Given the description of an element on the screen output the (x, y) to click on. 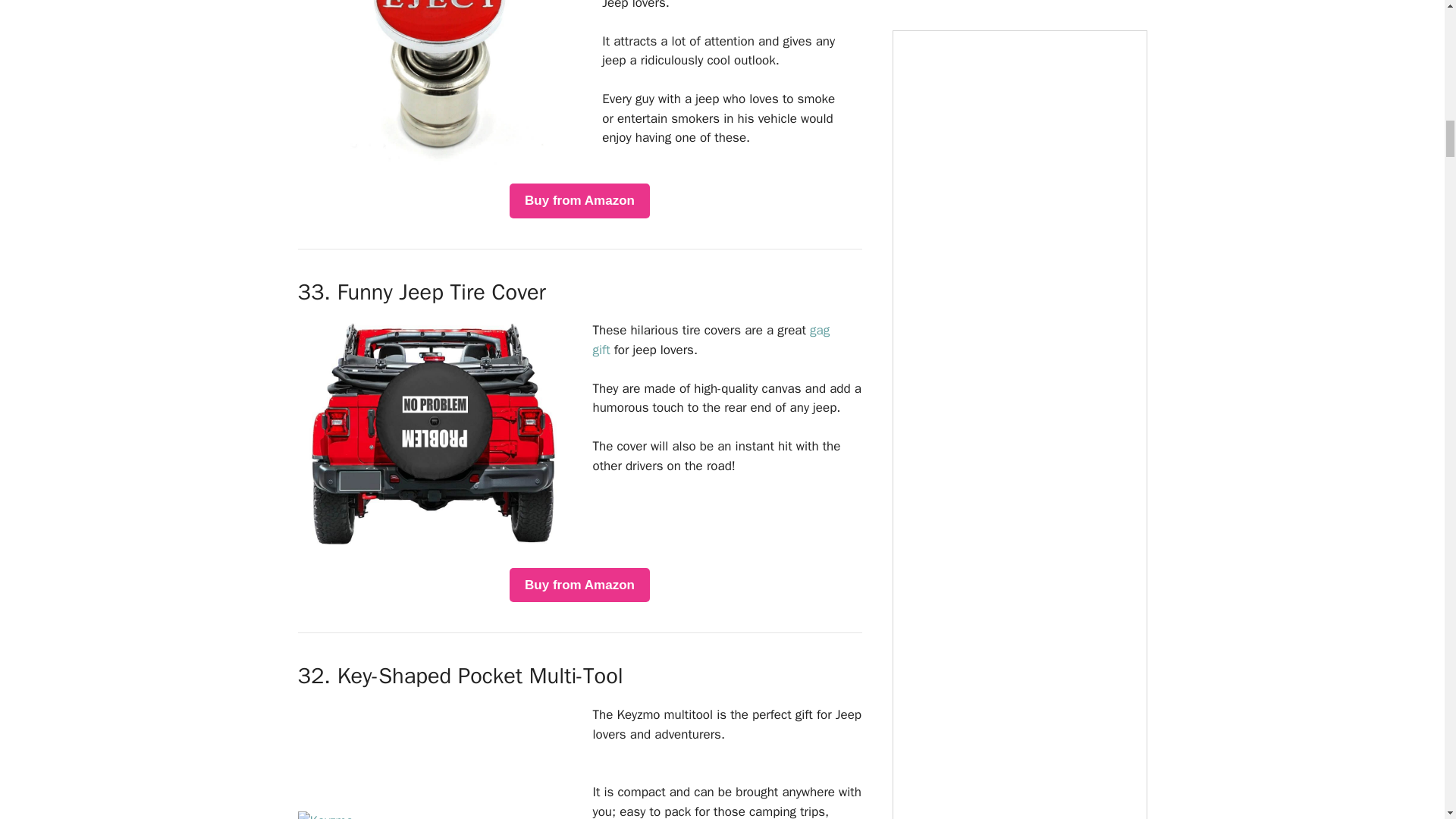
36 Best Gifts For Jeep Lovers 5 (431, 433)
36 Best Gifts For Jeep Lovers 4 (438, 84)
36 Best Gifts For Jeep Lovers 6 (324, 815)
